Given the description of an element on the screen output the (x, y) to click on. 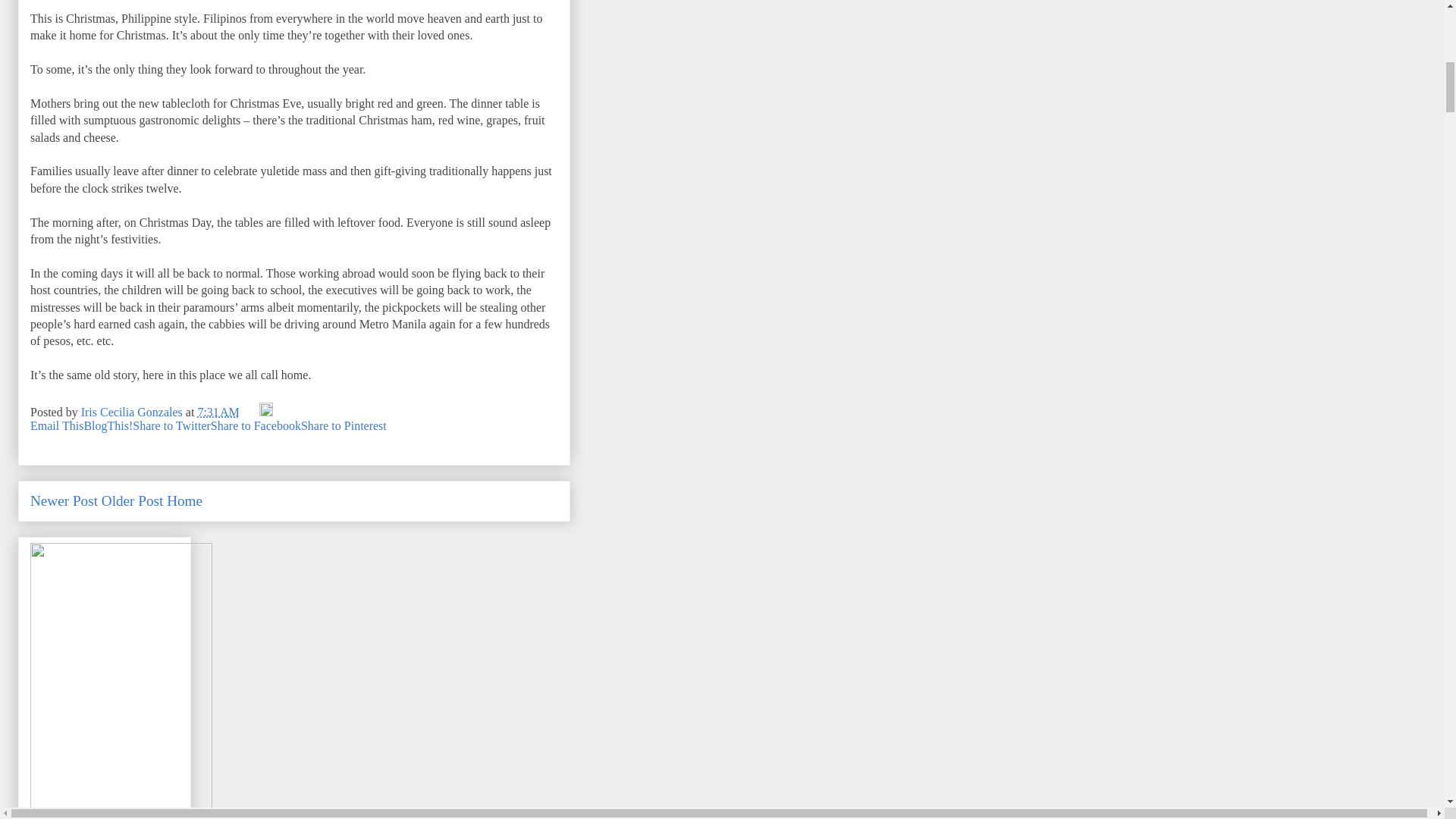
BlogThis! (107, 425)
Share to Twitter (171, 425)
BlogThis! (107, 425)
author profile (133, 411)
Email This (56, 425)
Newer Post (63, 500)
Share to Facebook (256, 425)
permanent link (217, 411)
Older Post (132, 500)
Share to Facebook (256, 425)
Edit Post (266, 411)
Email This (56, 425)
Email Post (251, 411)
Iris Cecilia Gonzales (133, 411)
